Given the description of an element on the screen output the (x, y) to click on. 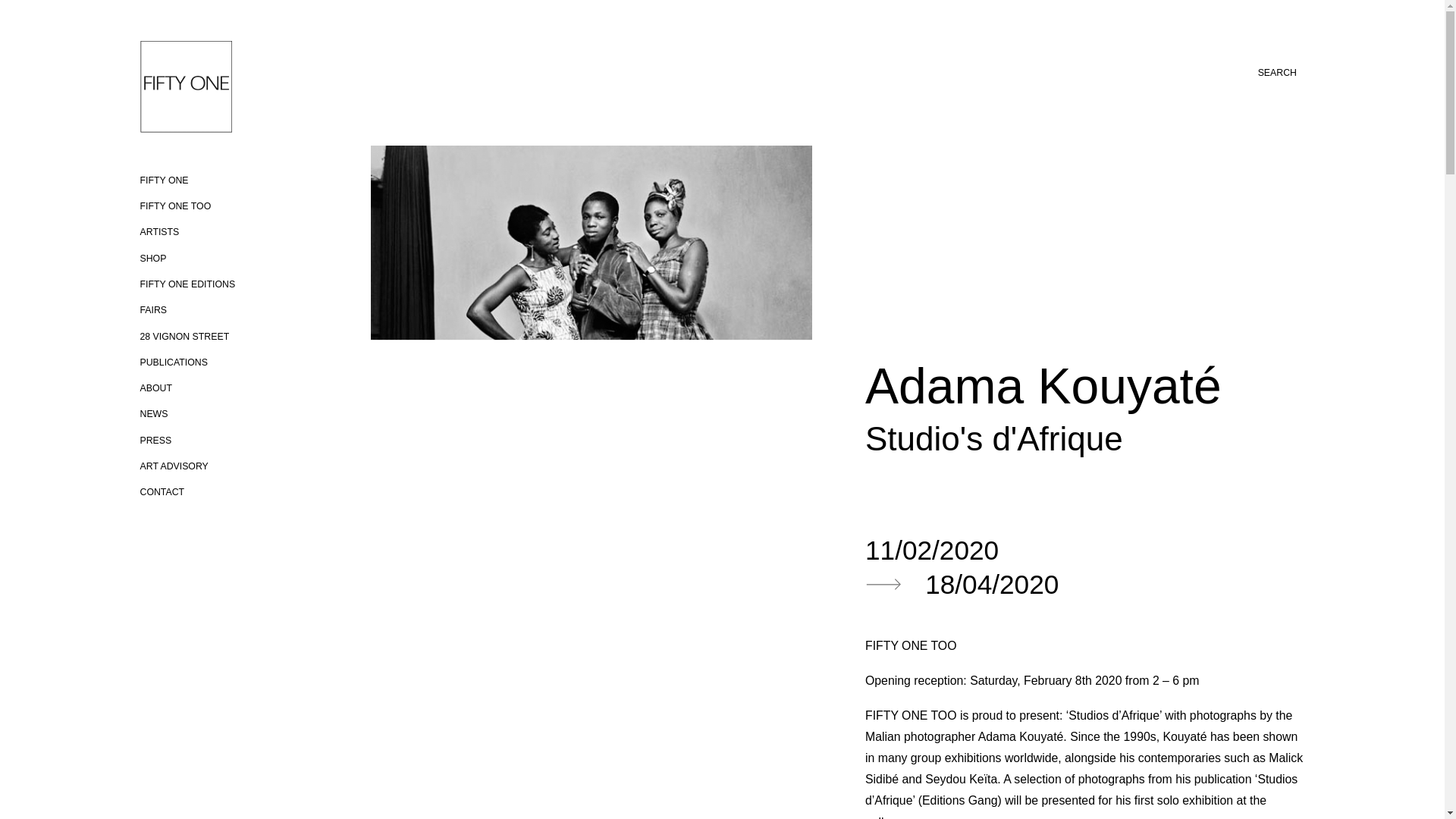
SHOP (152, 258)
FIFTY ONE EDITIONS (186, 284)
ABOUT (155, 388)
ART ADVISORY (173, 466)
FAIRS (153, 309)
ARTISTS (159, 231)
PUBLICATIONS (172, 362)
CONTACT (161, 491)
NEWS (153, 413)
28 VIGNON STREET (183, 336)
